Given the description of an element on the screen output the (x, y) to click on. 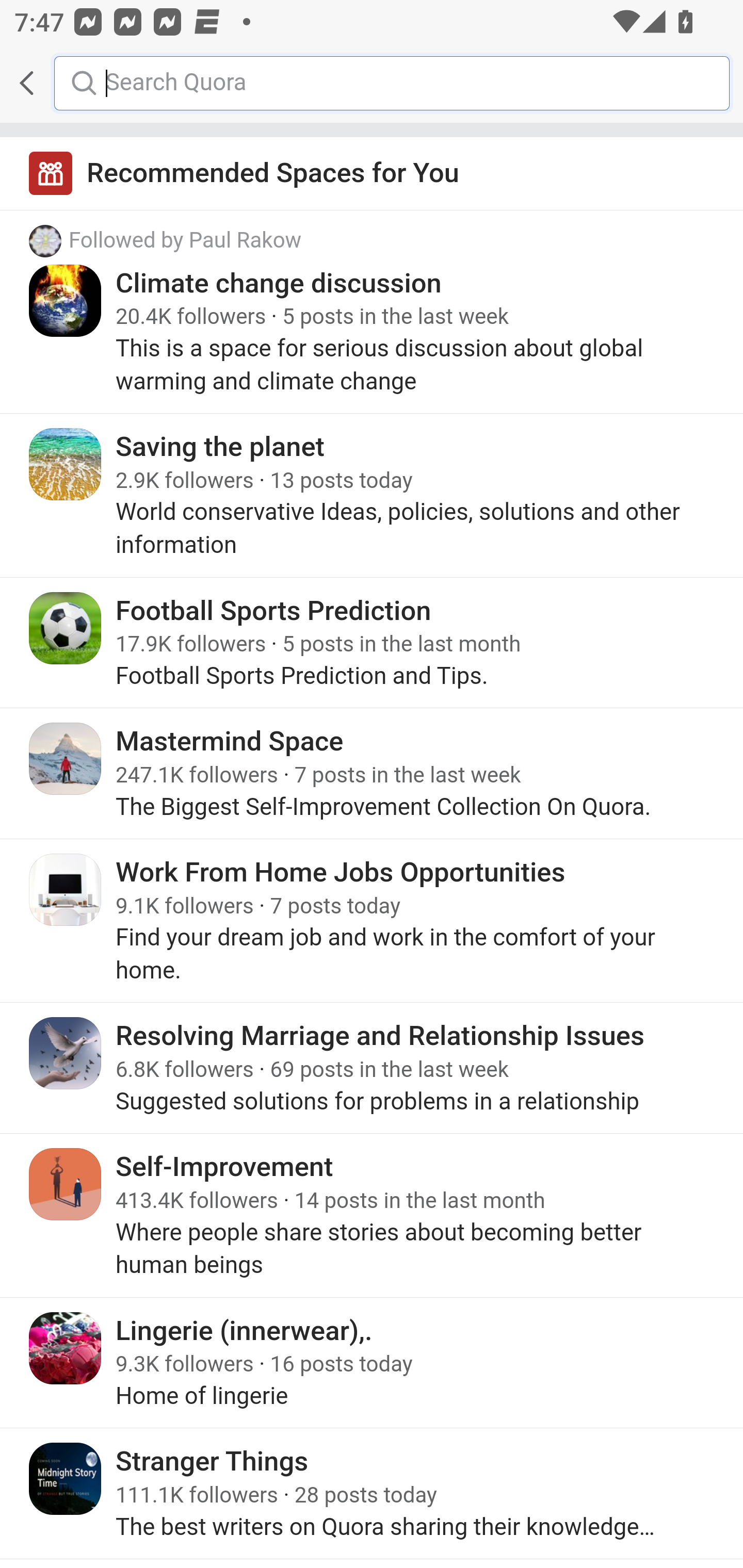
Me Home Search Add (371, 82)
Icon for Climate change discussion (65, 300)
Icon for Saving the planet (65, 464)
Icon for Football Sports Prediction (65, 627)
Icon for Mastermind Space (65, 759)
Icon for Work From Home Jobs Opportunities (65, 889)
Icon for Self-Improvement (65, 1184)
Icon for Lingerie (innerwear),. (65, 1347)
Icon for Stranger Things (65, 1479)
